Given the description of an element on the screen output the (x, y) to click on. 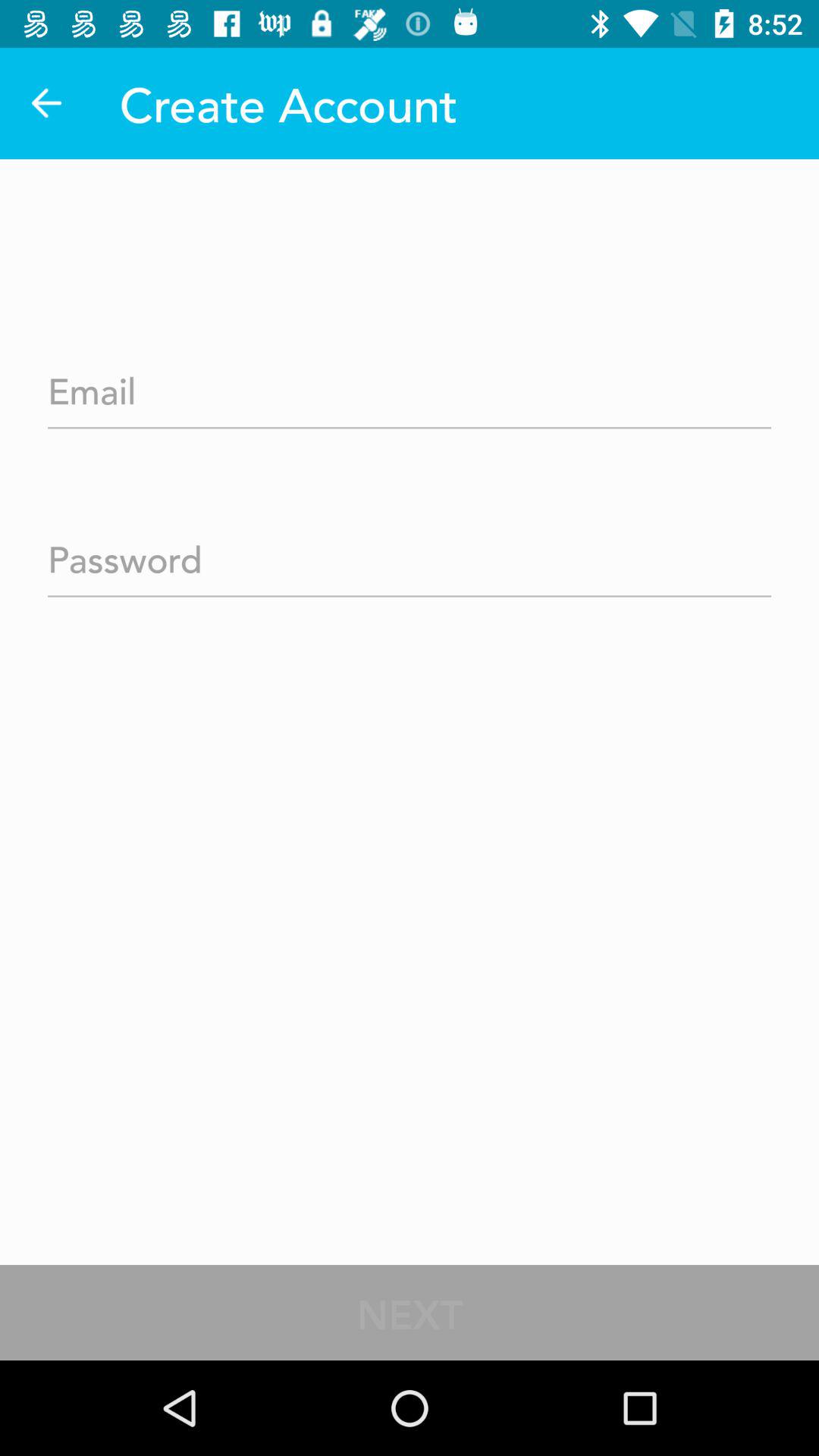
enter email box (409, 386)
